Given the description of an element on the screen output the (x, y) to click on. 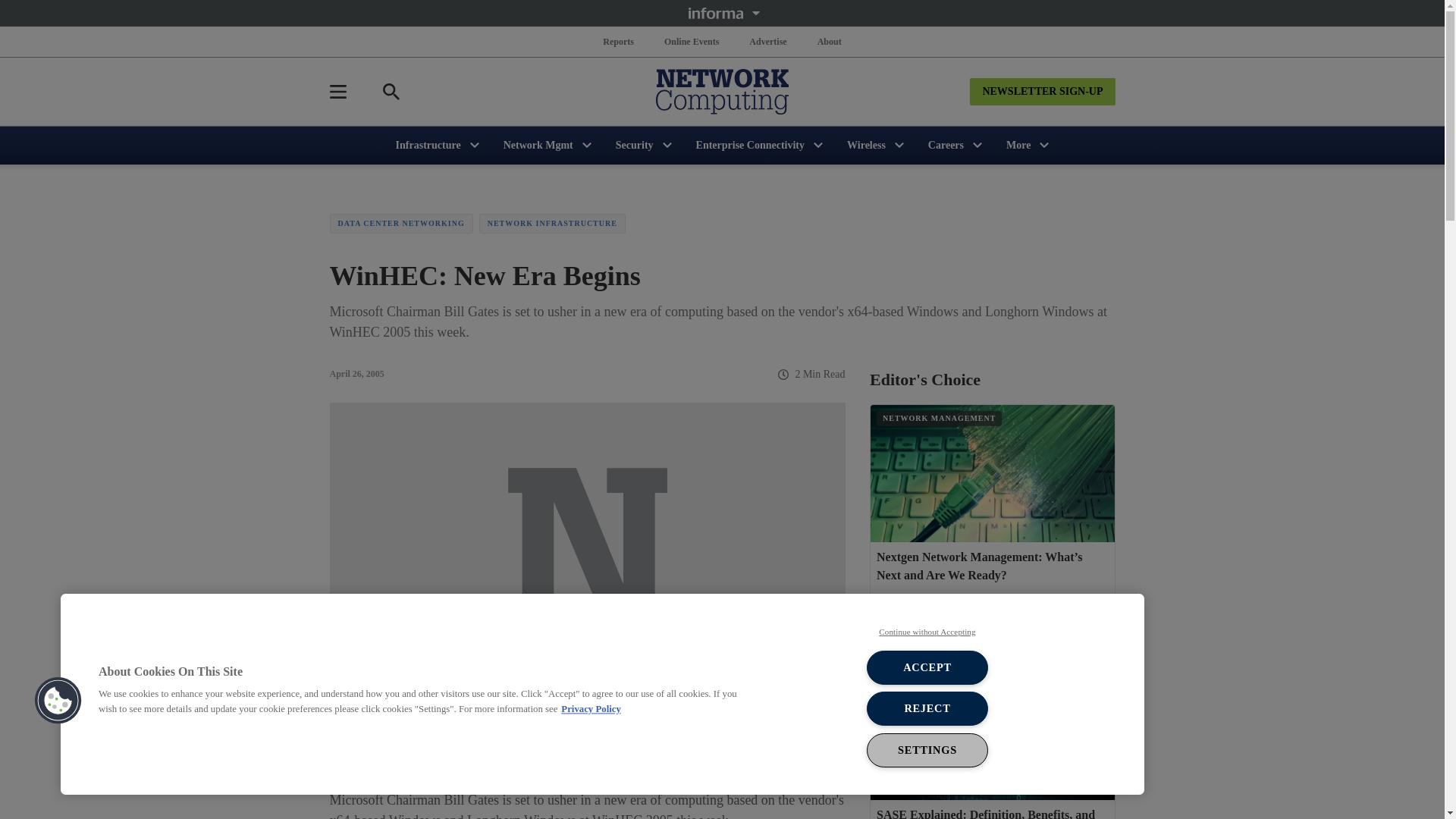
About (828, 41)
NEWSLETTER SIGN-UP (1042, 90)
Cookies Button (57, 700)
Online Events (691, 41)
Advertise (767, 41)
Network Computing Logo (722, 91)
Reports (618, 41)
